Given the description of an element on the screen output the (x, y) to click on. 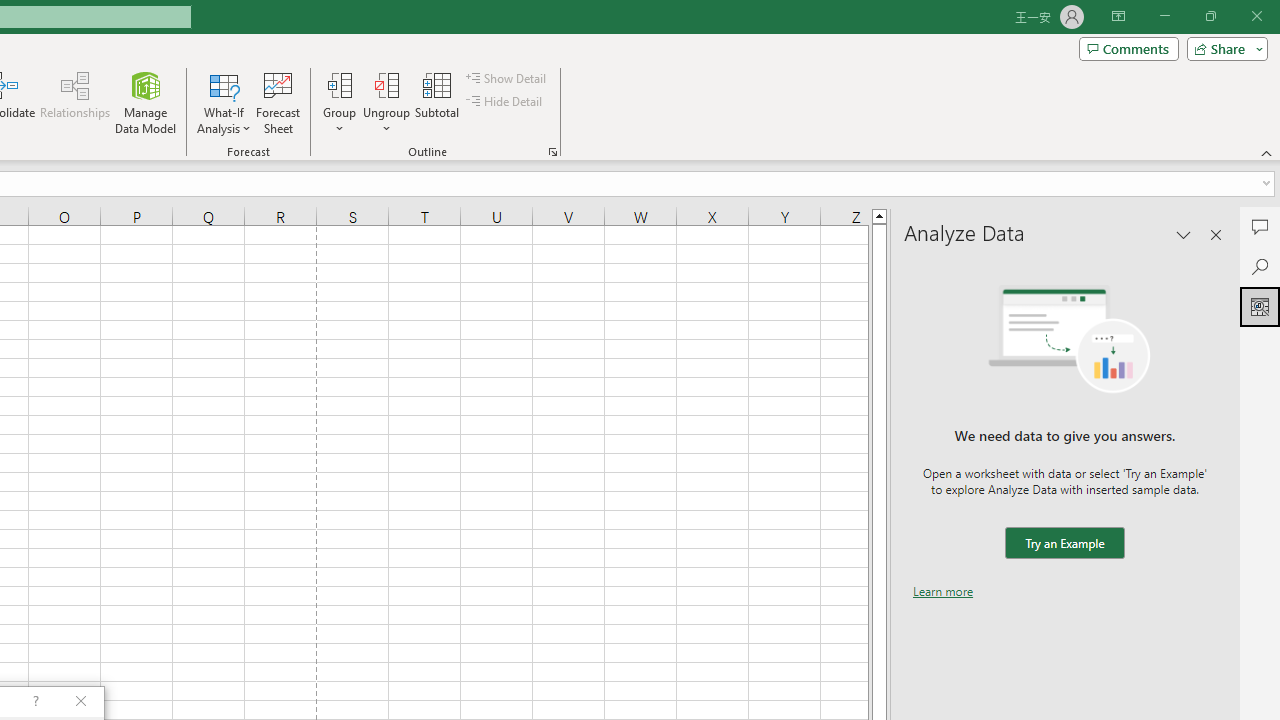
Learn more (943, 591)
Show Detail (507, 78)
What-If Analysis (223, 102)
Hide Detail (505, 101)
Search (1260, 266)
Analyze Data (1260, 306)
